Given the description of an element on the screen output the (x, y) to click on. 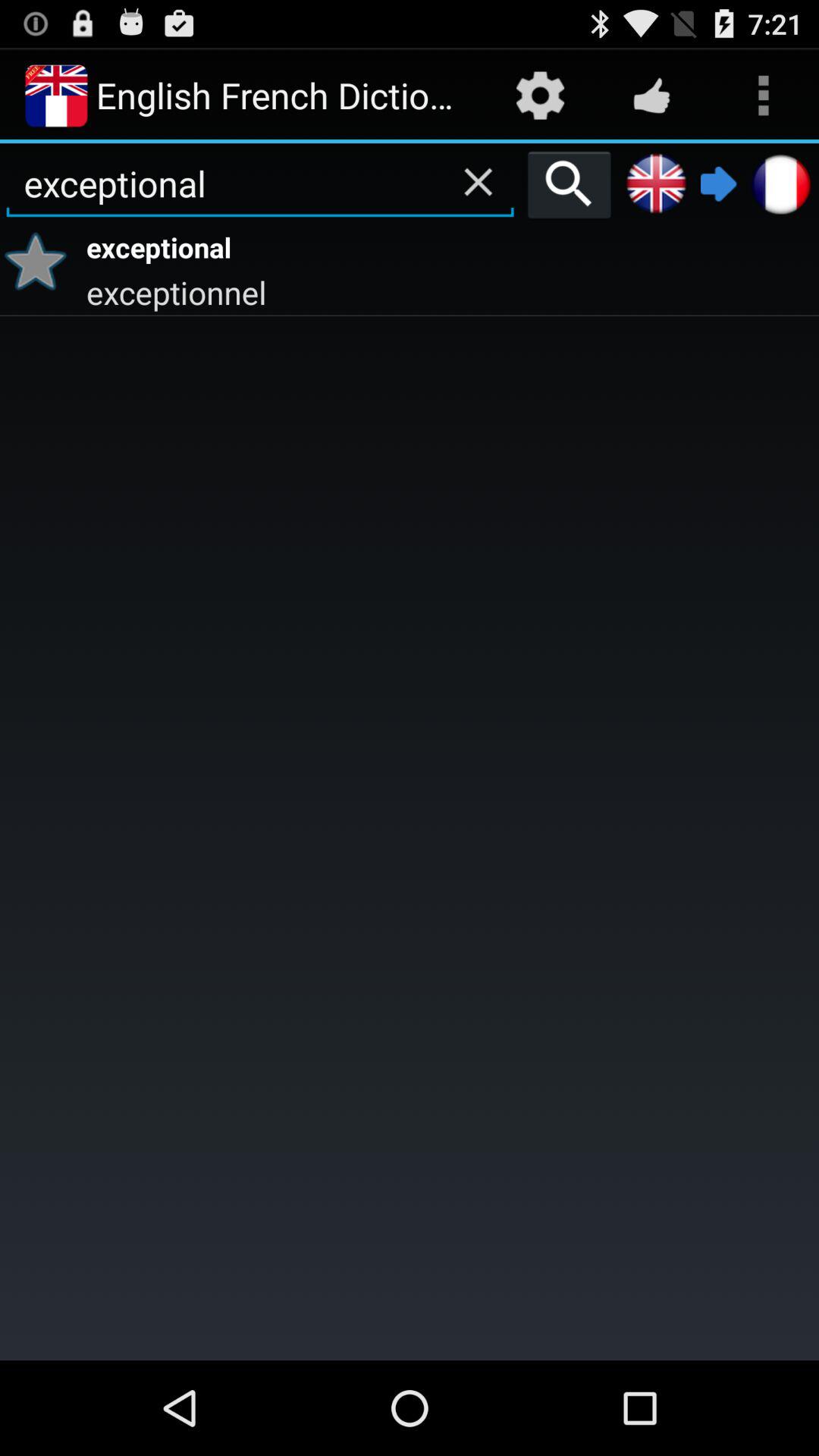
choose the exceptionnel app (451, 291)
